Given the description of an element on the screen output the (x, y) to click on. 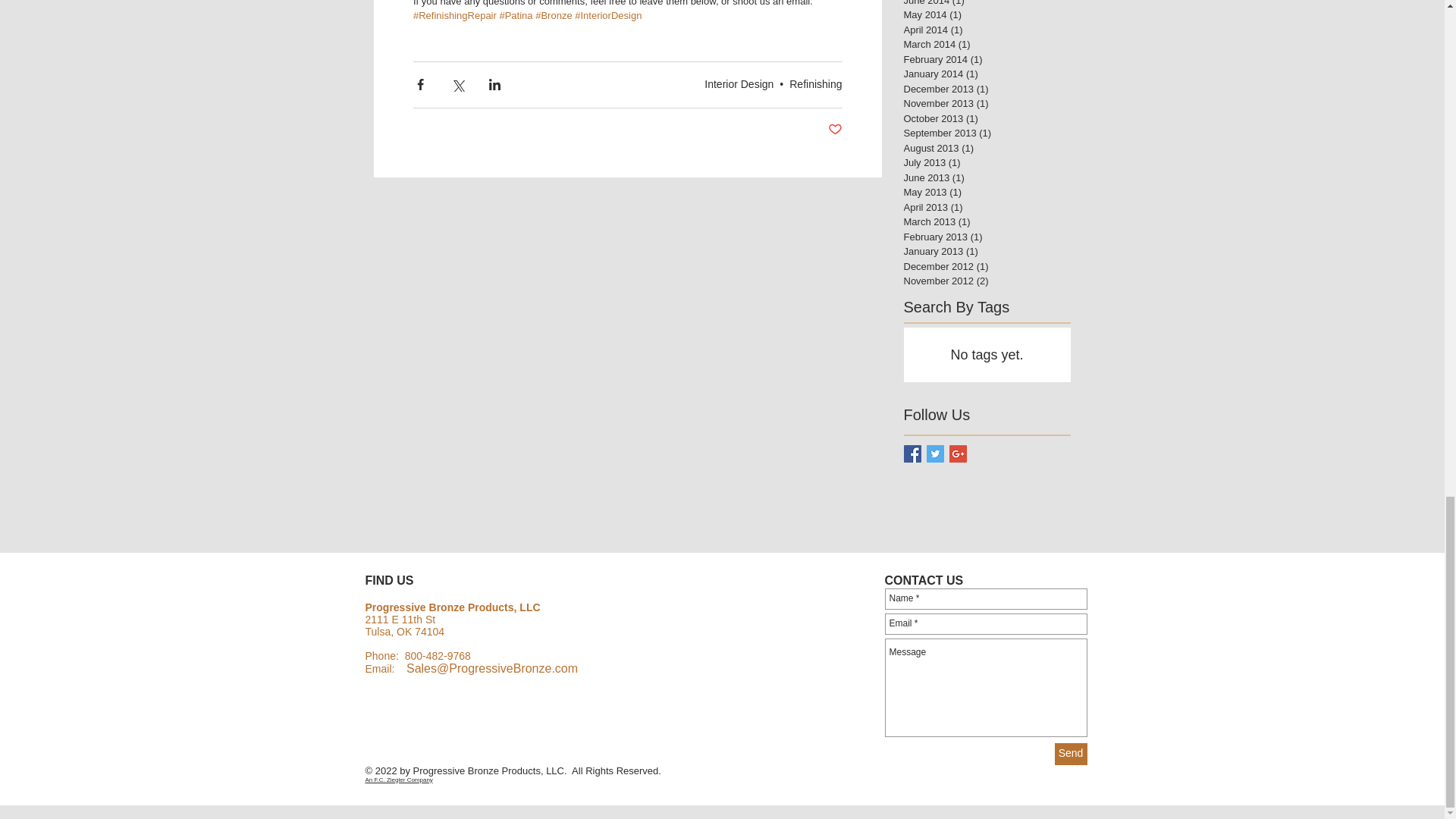
Refinishing (815, 83)
Post not marked as liked (835, 130)
Interior Design (738, 83)
